Given the description of an element on the screen output the (x, y) to click on. 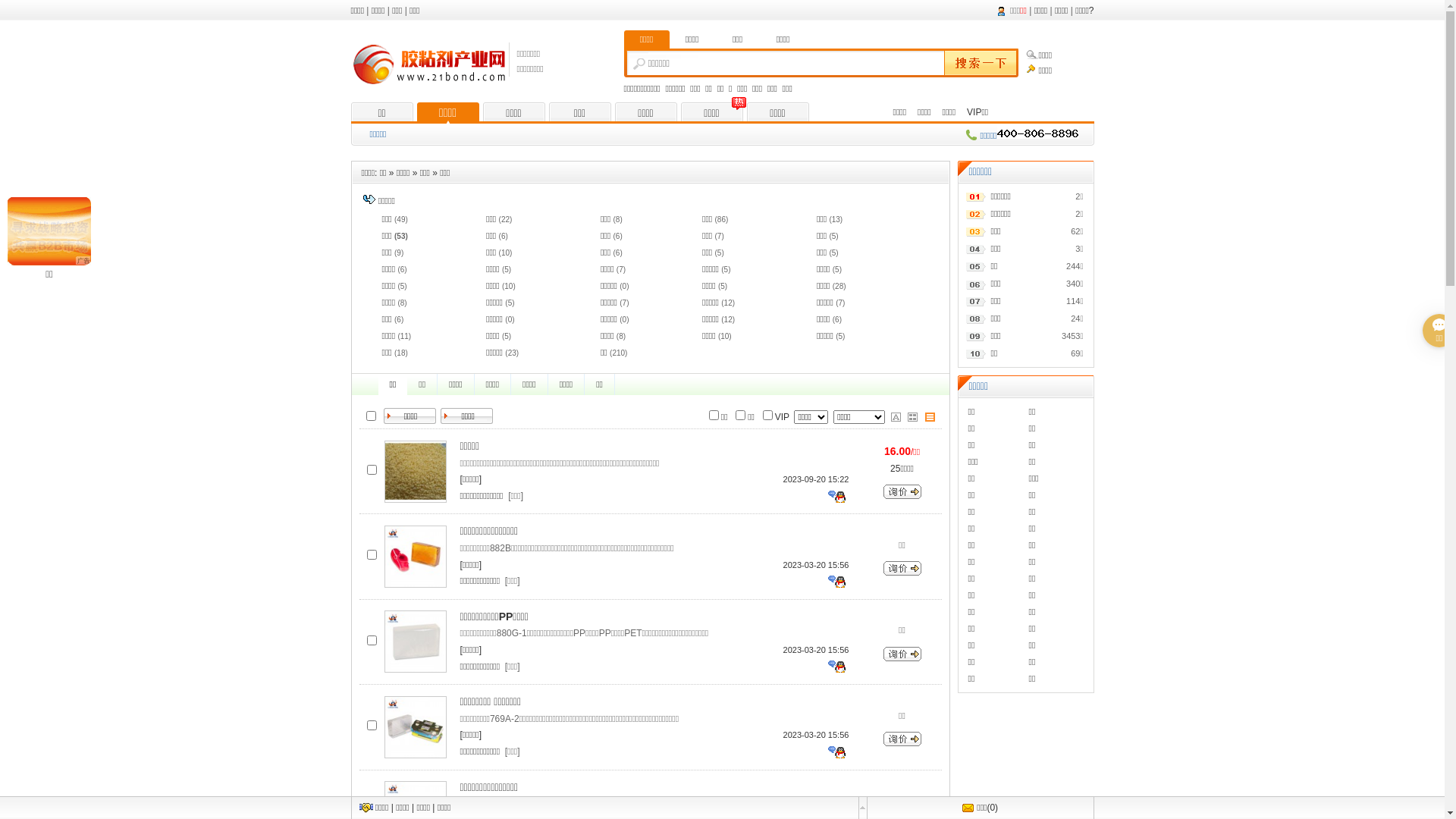
892 Element type: text (371, 469)
  Element type: text (978, 62)
on Element type: text (740, 414)
on Element type: text (371, 415)
1074 Element type: text (371, 810)
1036 Element type: text (371, 554)
1037 Element type: text (371, 640)
1073 Element type: text (371, 725)
on Element type: text (767, 414)
on Element type: text (713, 414)
